Given the description of an element on the screen output the (x, y) to click on. 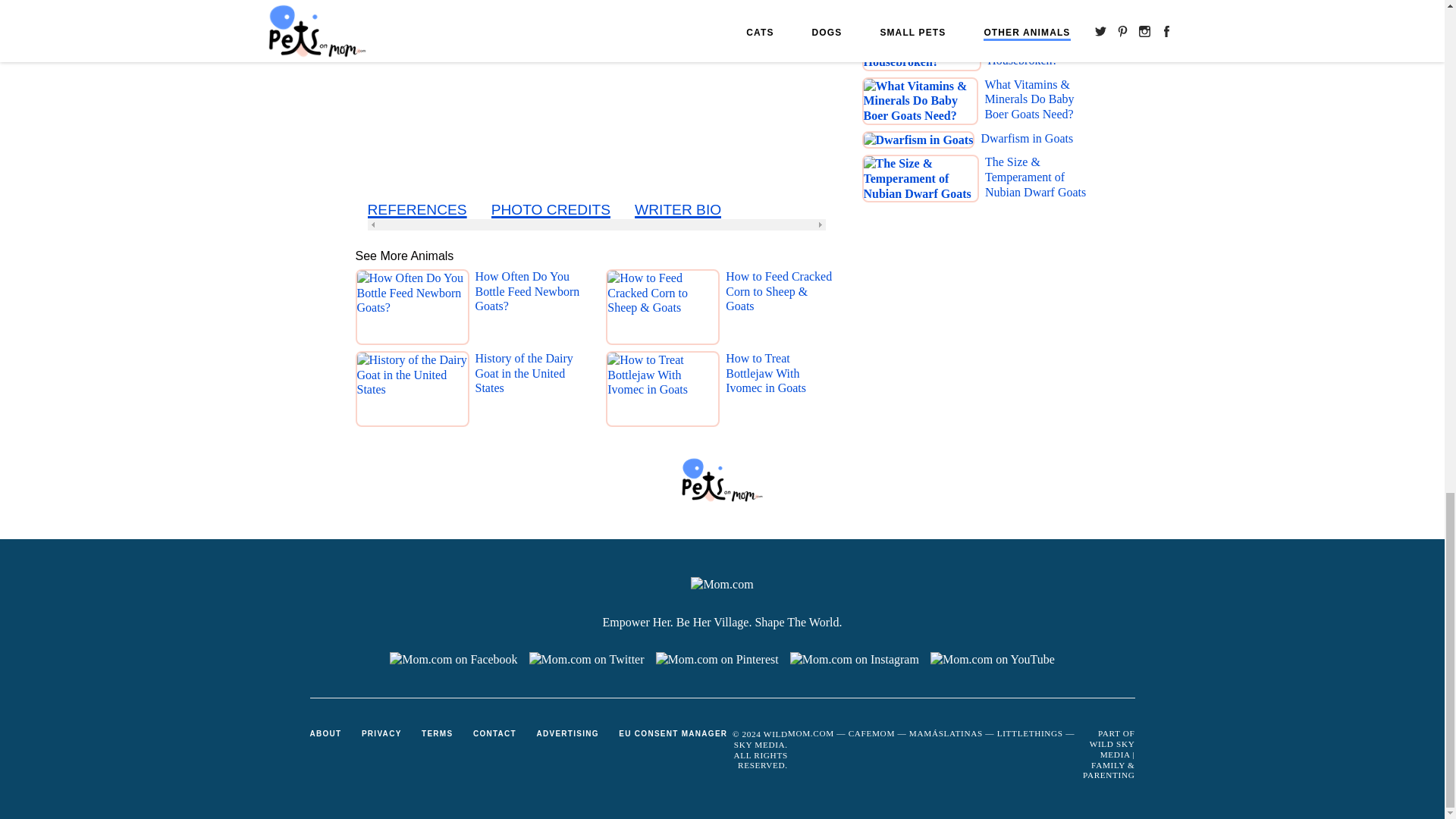
How Often Do You Bottle Feed Newborn Goats? (530, 310)
History of the Dairy Goat in the United States (530, 392)
How to Treat Bottlejaw With Ivomec in Goats (781, 392)
